Given the description of an element on the screen output the (x, y) to click on. 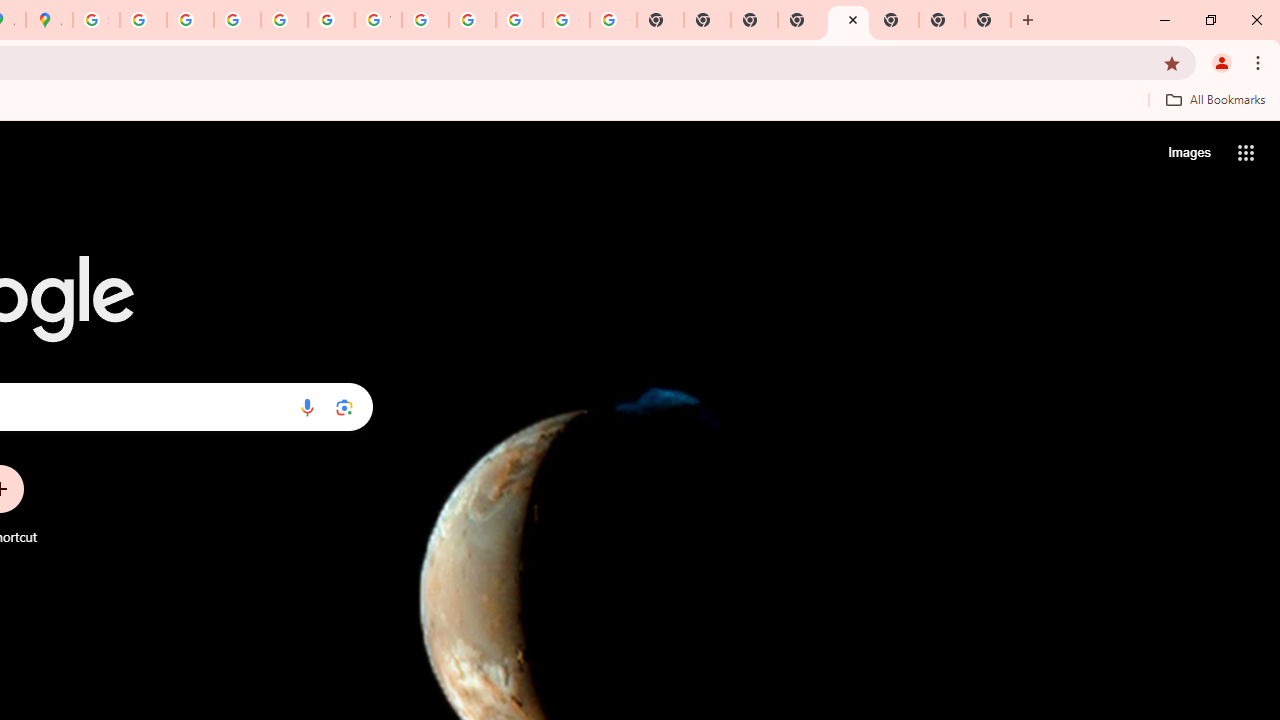
New Tab (942, 20)
Privacy Help Center - Policies Help (237, 20)
